Given the description of an element on the screen output the (x, y) to click on. 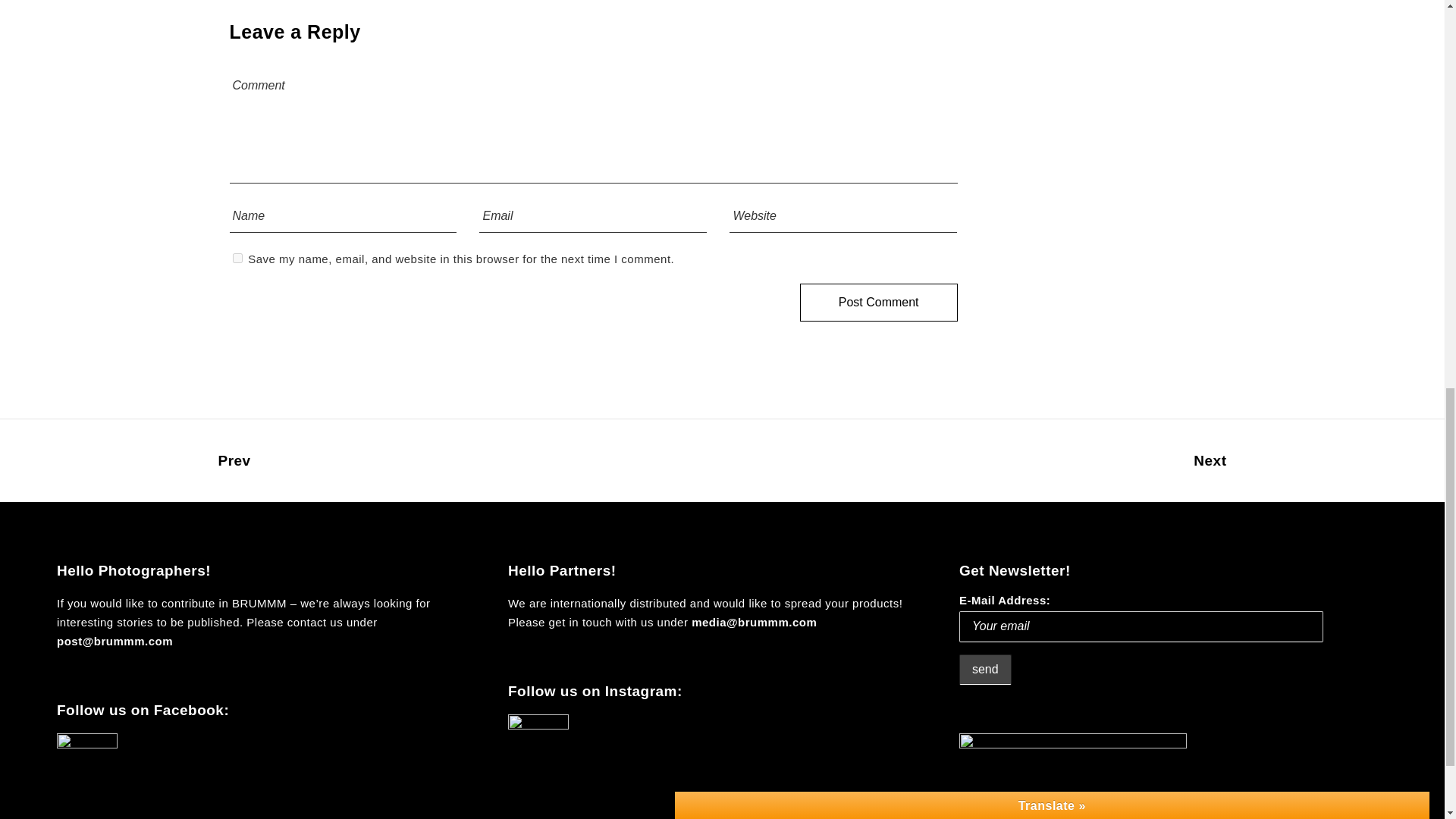
yes (236, 257)
Post Comment (878, 302)
send (985, 668)
